Given the description of an element on the screen output the (x, y) to click on. 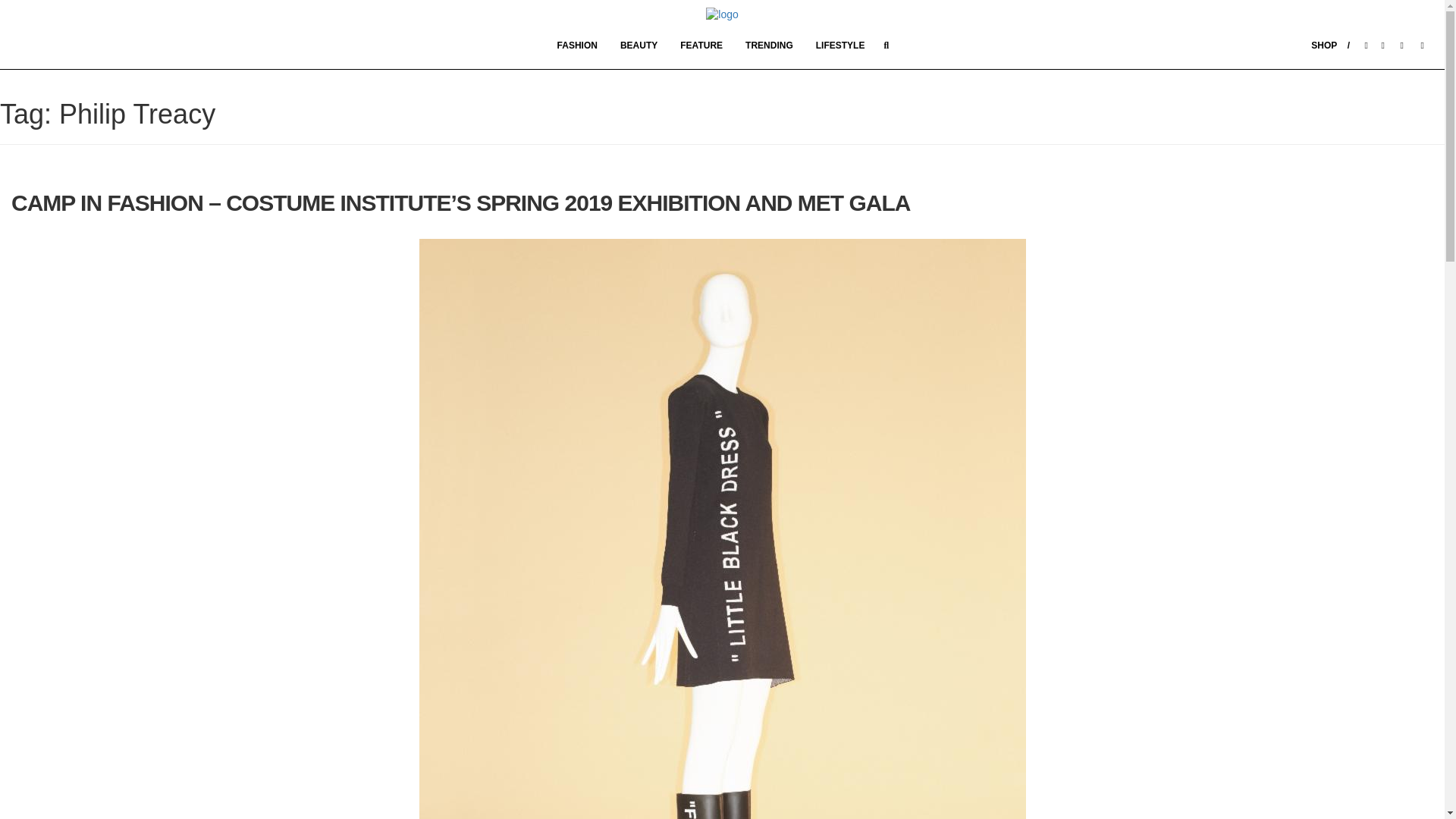
BEAUTY (638, 43)
TRENDING (769, 43)
SHOP (1330, 43)
Lifestyle (840, 43)
Beauty (638, 43)
LIFESTYLE (840, 43)
Feature (700, 43)
FEATURE (700, 43)
FASHION (577, 43)
Trending (769, 43)
